Given the description of an element on the screen output the (x, y) to click on. 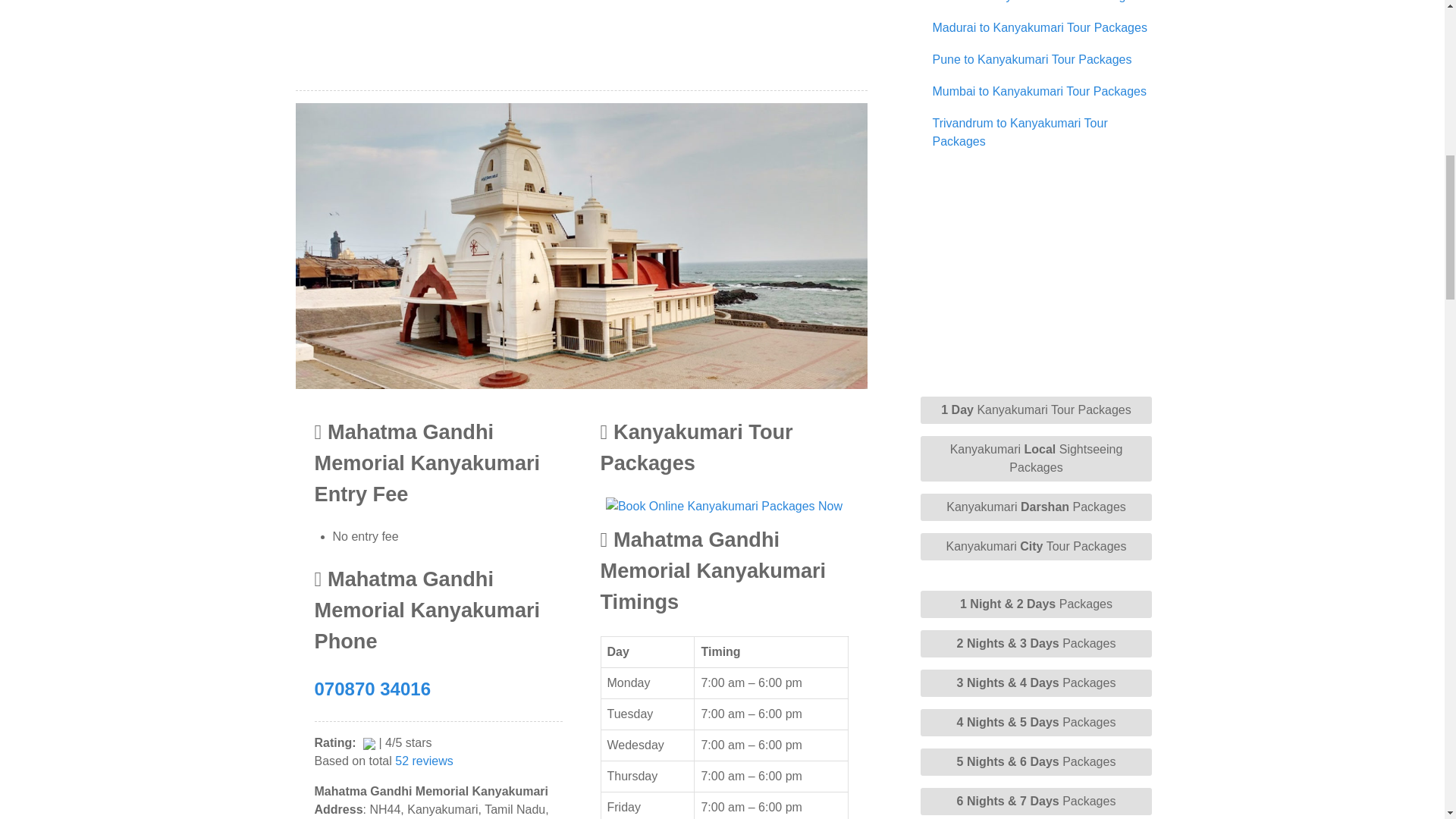
Advertisement (581, 43)
Kerala to Kanyakumari Tour Packages (1035, 1)
Mumbai to Kanyakumari Tour Packages (1040, 91)
Kanyakumari Darshan Packages (1036, 506)
52 reviews (423, 760)
070870 34016 (372, 688)
Mahatma Gandhi Memorial Kanyakumari Phone, Contact Number (372, 688)
Pune to Kanyakumari Tour Packages (1032, 59)
1 Day Kanyakumari Tour Packages (1036, 410)
Trivandrum to Kanyakumari Tour Packages (1020, 132)
Kanyakumari Local Sightseeing Packages (1036, 458)
Book Online Kanyakumari Packages (724, 505)
Kanyakumari City Tour Packages (1036, 546)
Madurai to Kanyakumari Tour Packages (1040, 27)
